Given the description of an element on the screen output the (x, y) to click on. 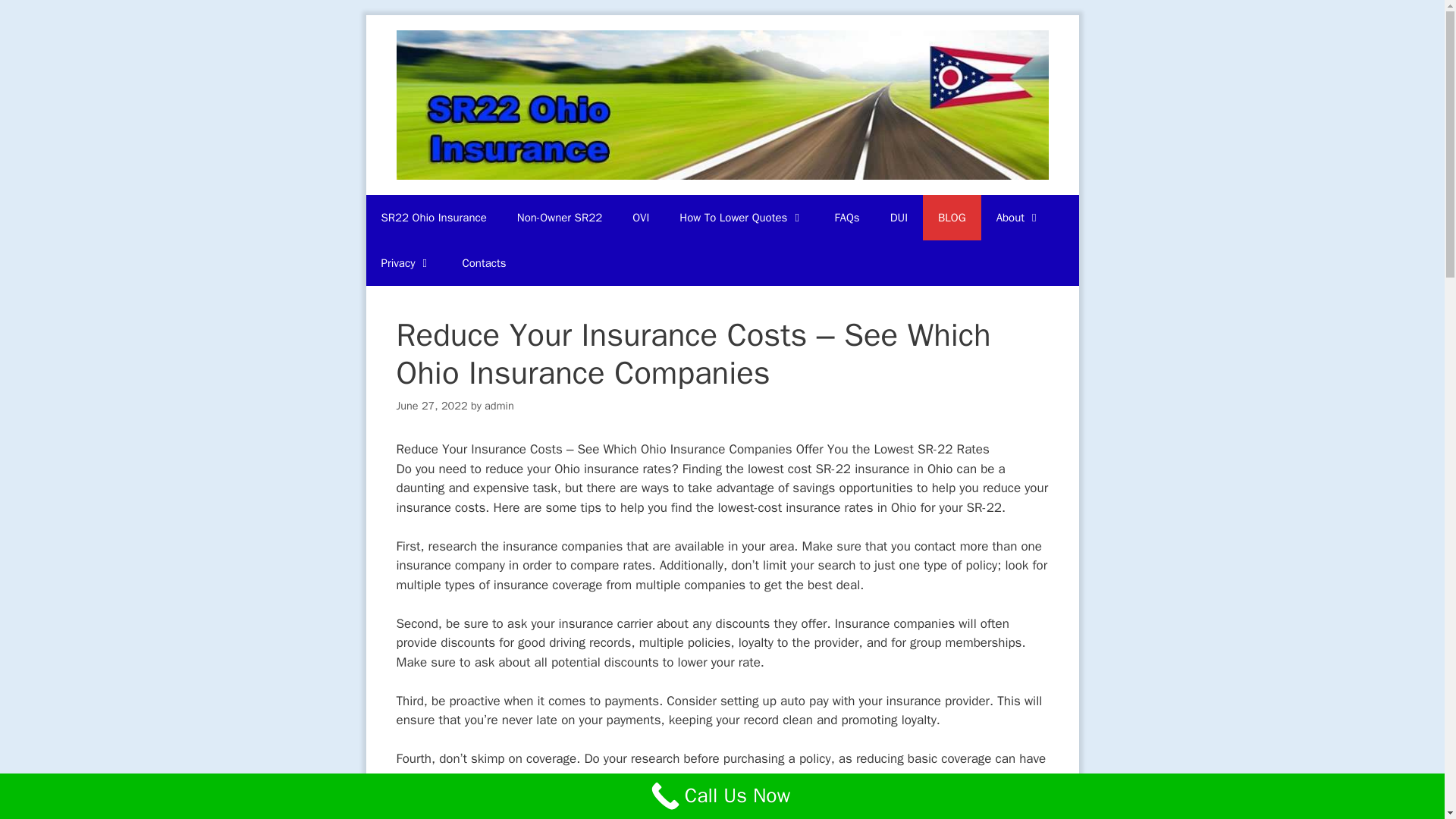
SR22 Ohio Insurance (432, 217)
Contacts (483, 262)
BLOG (952, 217)
OVI (640, 217)
admin (498, 405)
View all posts by admin (498, 405)
How To Lower Quotes (740, 217)
Privacy (405, 262)
DUI (899, 217)
FAQs (846, 217)
